Given the description of an element on the screen output the (x, y) to click on. 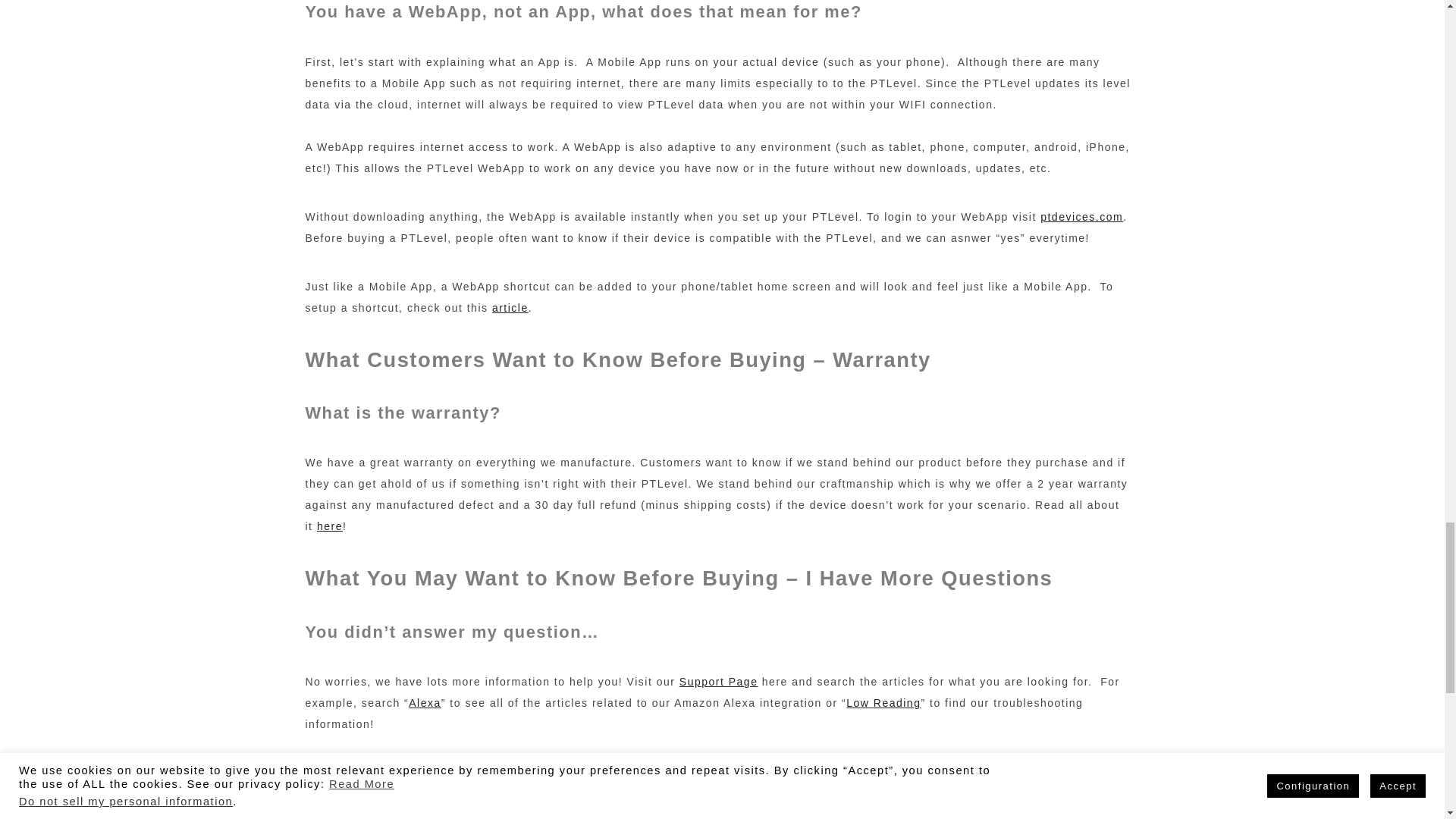
ptdevices.com (1081, 216)
Low Reading (882, 702)
Support Page (718, 681)
here (329, 526)
Alexa (425, 702)
article (510, 307)
